Given the description of an element on the screen output the (x, y) to click on. 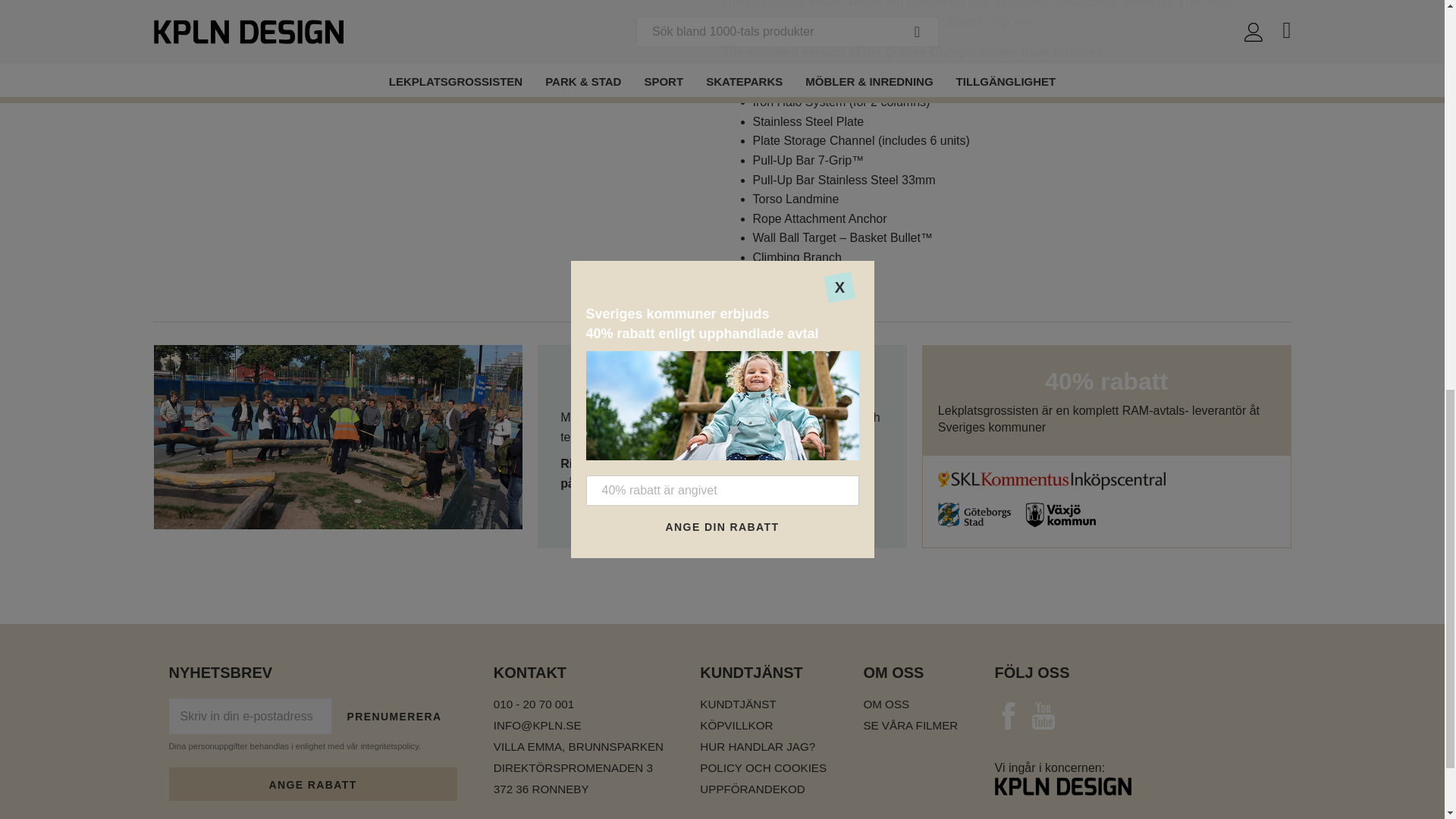
Villa Emma, Brunnsparken (578, 746)
Om oss (910, 704)
Hur handlar jag? (763, 746)
010-20 70 001 (692, 463)
372 36 RONNEBY (578, 788)
010 - 20 70 001 (578, 704)
372 36 Ronneby (578, 788)
integritetspolicy (390, 746)
HUR HANDLAR JAG? (763, 746)
010 - 20 70 001 (578, 704)
VILLA EMMA, BRUNNSPARKEN (578, 746)
Policy och cookies (763, 767)
PRENUMERERA (394, 715)
ANGE RABATT (312, 783)
